Given the description of an element on the screen output the (x, y) to click on. 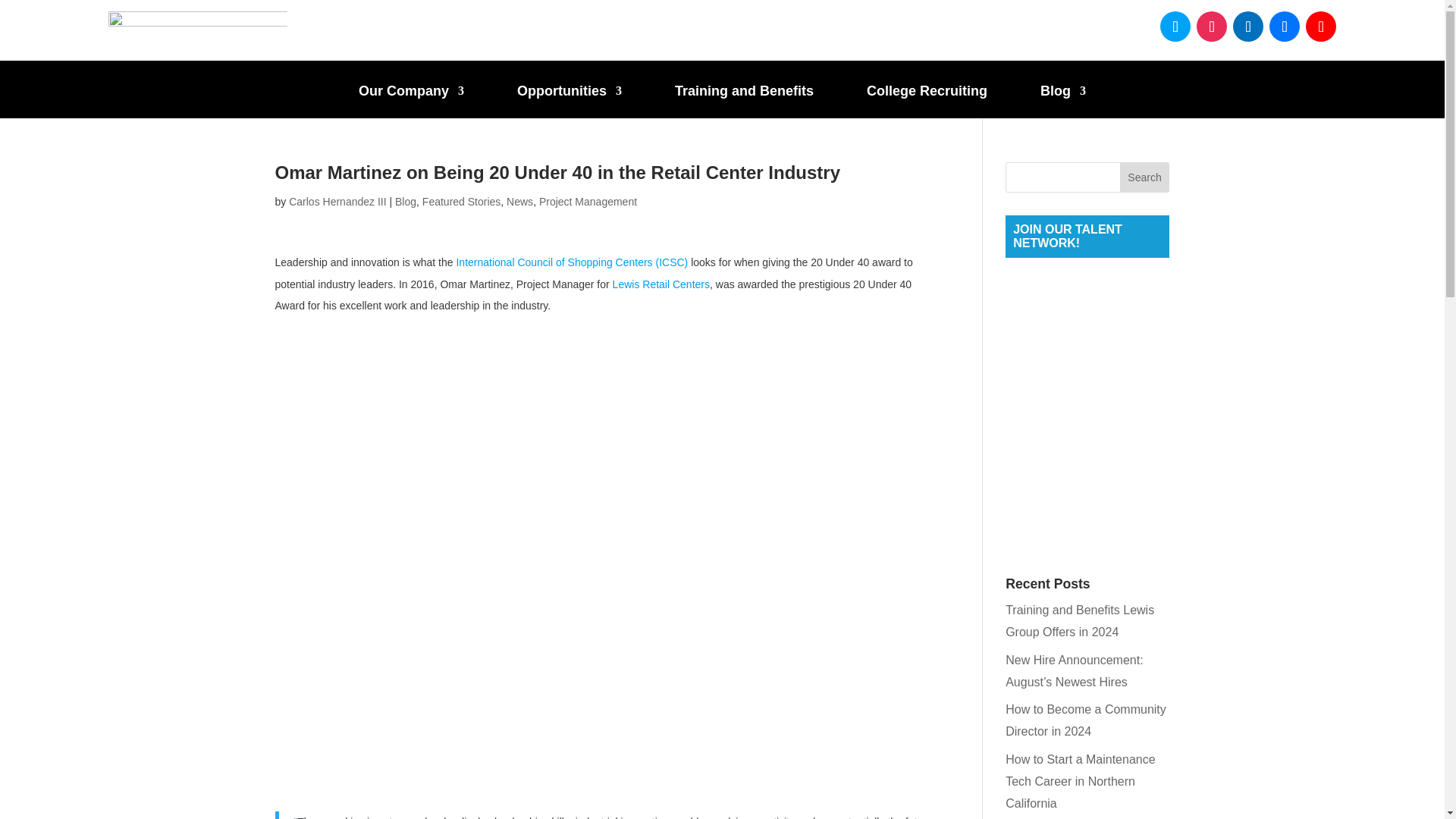
Featured Stories (461, 201)
Our Company (411, 101)
Carlos Hernandez III (336, 201)
Blog (1063, 101)
Project Management (587, 201)
Follow on Youtube (1321, 26)
Lewis Retail Centers (661, 284)
Posts by Carlos Hernandez III (336, 201)
College Recruiting (926, 101)
